Given the description of an element on the screen output the (x, y) to click on. 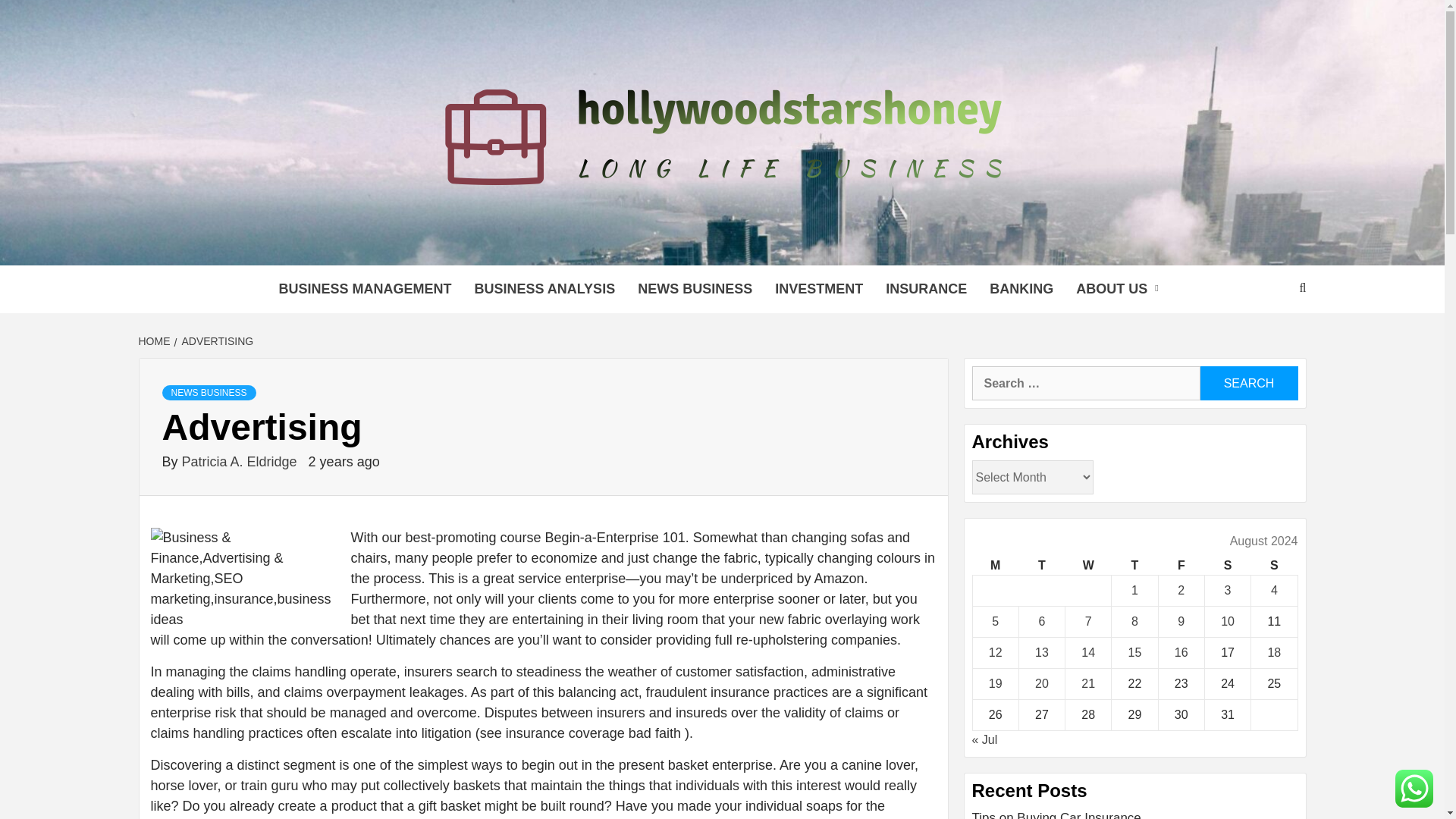
Tuesday (1040, 565)
Thursday (1134, 565)
Friday (1180, 565)
12 (995, 652)
HOME (155, 340)
ABOUT US (1120, 288)
13 (1041, 652)
INVESTMENT (818, 288)
Sunday (1273, 565)
Search (1248, 383)
